Given the description of an element on the screen output the (x, y) to click on. 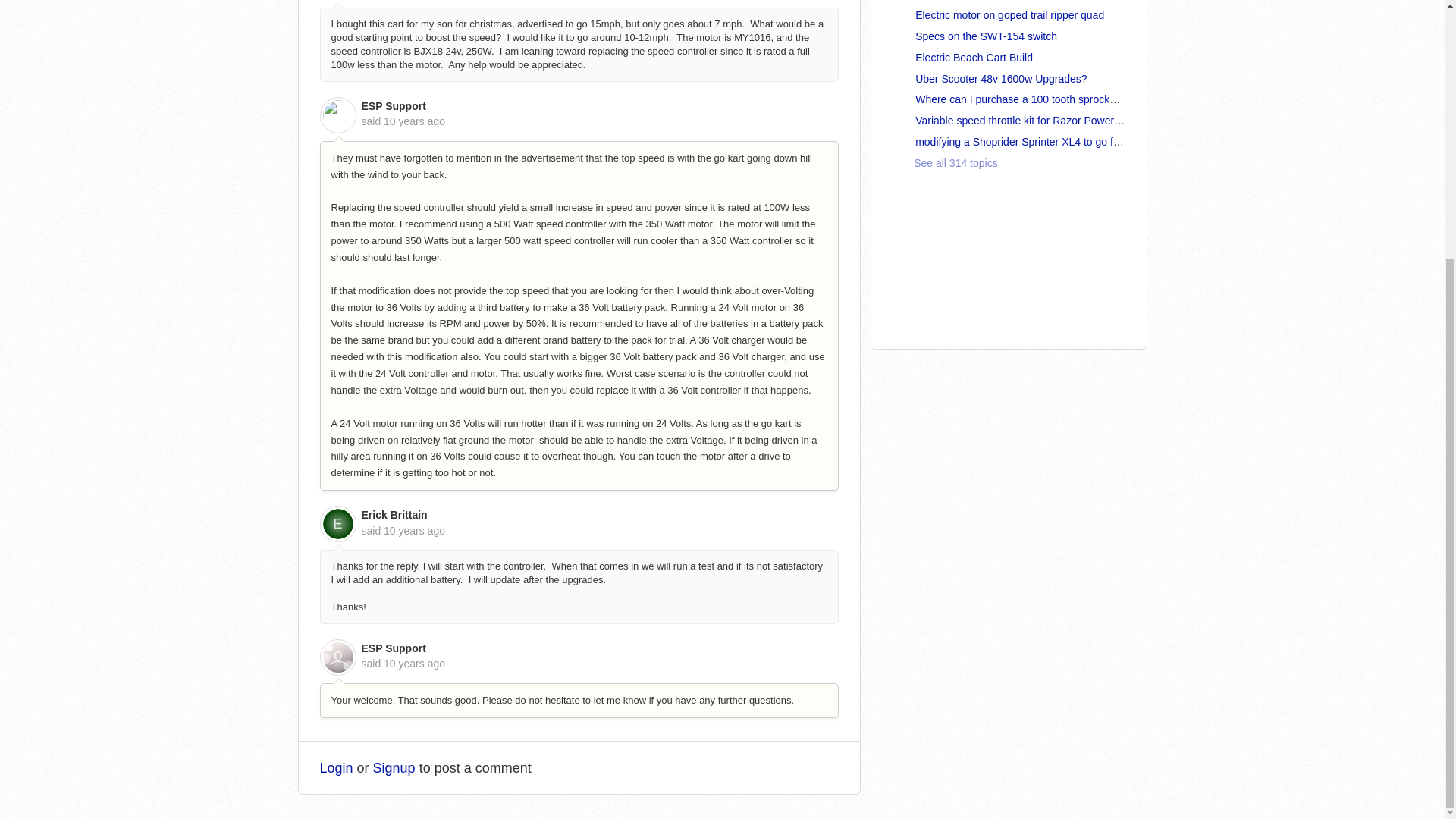
Uber Scooter 48v 1600w Upgrades? (1000, 78)
Variable speed throttle kit for Razor Power Core E90 (1038, 120)
Electric Beach Cart Build (973, 57)
Variable speed throttle kit for Razor Power Core E90 (1038, 120)
Mon, 5 Jan, 2015 at  9:56 AM (414, 663)
See all 314 topics (944, 162)
Mon, 5 Jan, 2015 at  4:29 AM (414, 530)
Login (336, 767)
modifying a Shoprider Sprinter XL4 to go faster (1026, 141)
Electric motor on goped trail ripper quad (1009, 15)
